Given the description of an element on the screen output the (x, y) to click on. 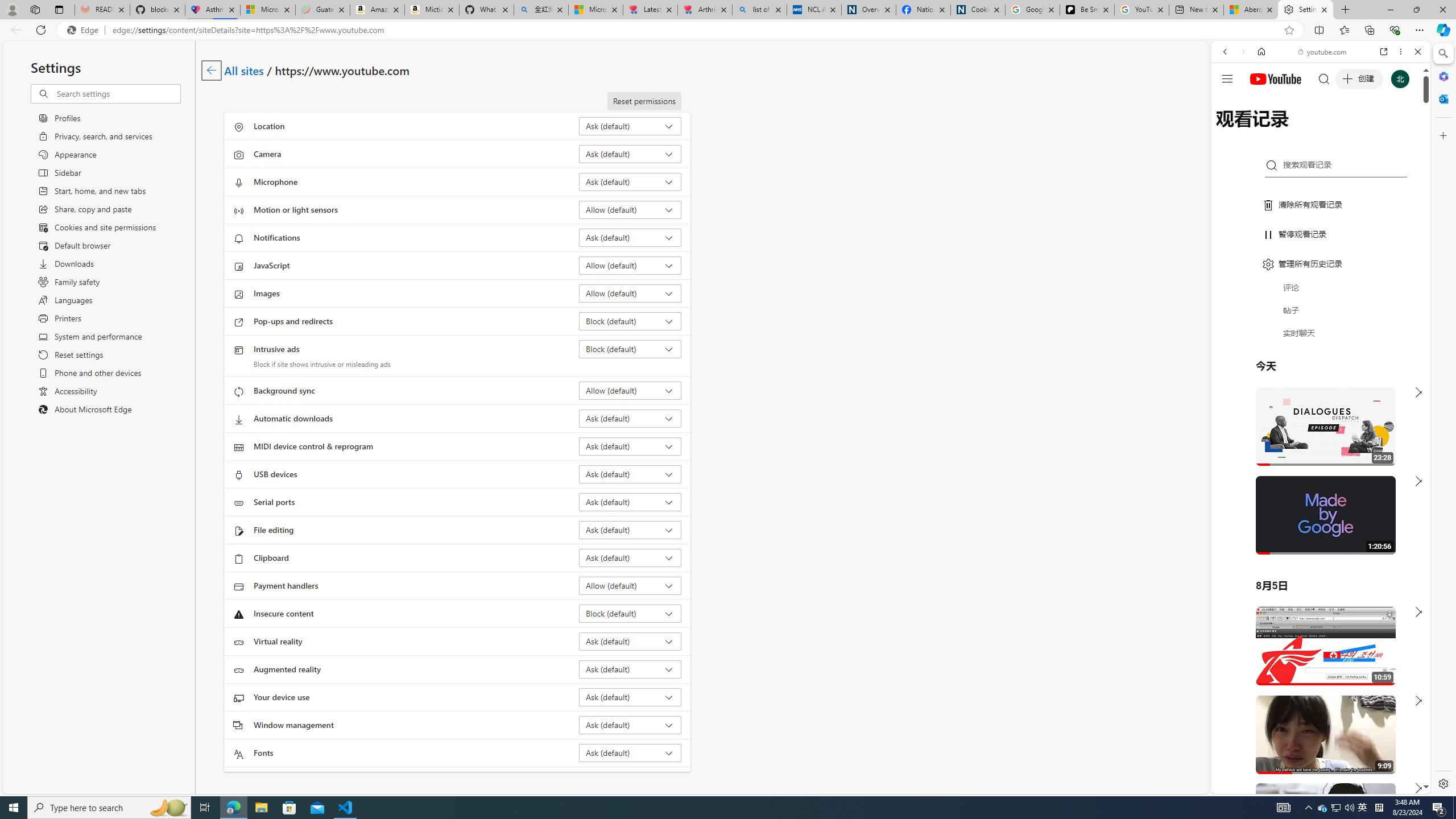
Class: c01162 (210, 70)
Location Ask (default) (630, 126)
US[ju] (1249, 785)
Show More Music (1390, 310)
Payment handlers Allow (default) (630, 585)
